Given the description of an element on the screen output the (x, y) to click on. 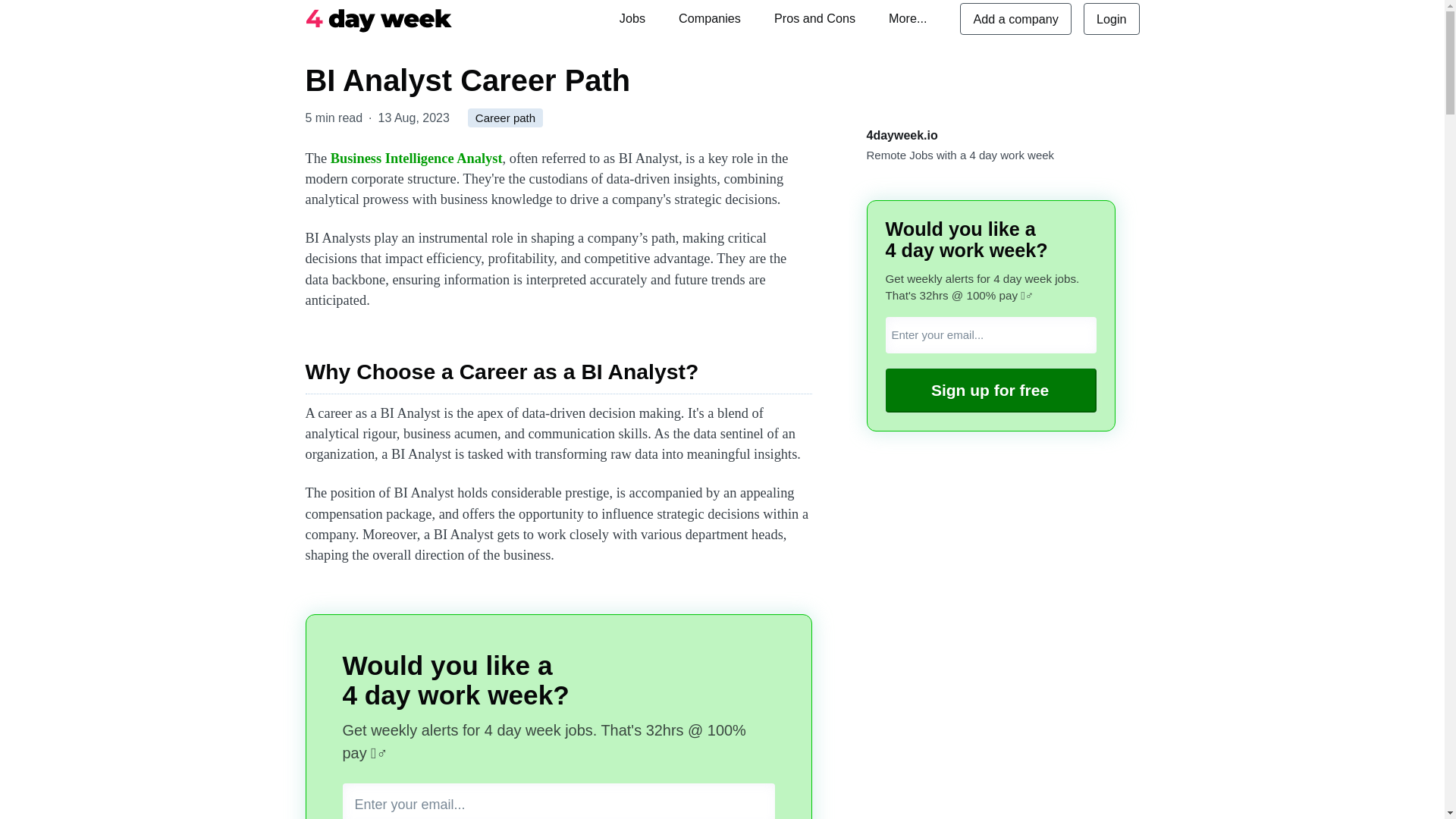
More... (907, 18)
Companies (709, 18)
Jobs (632, 18)
Pros and Cons (814, 18)
